Given the description of an element on the screen output the (x, y) to click on. 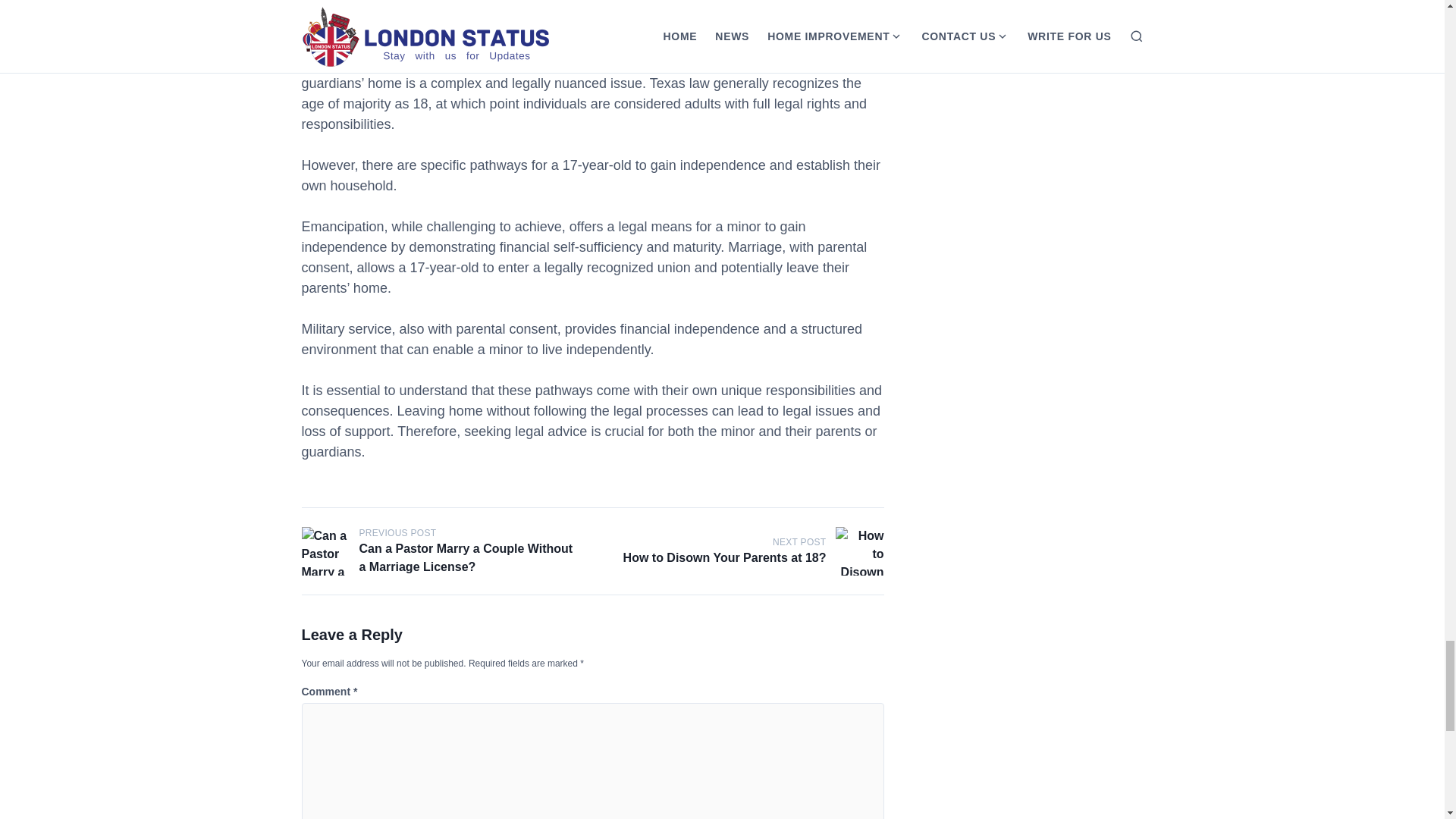
Can a Pastor Marry a Couple Without a Marriage License? (325, 551)
How to Disown Your Parents at 18? (725, 557)
Can a Pastor Marry a Couple Without a Marriage License? (466, 557)
How to Disown Your Parents at 18? (859, 551)
